Given the description of an element on the screen output the (x, y) to click on. 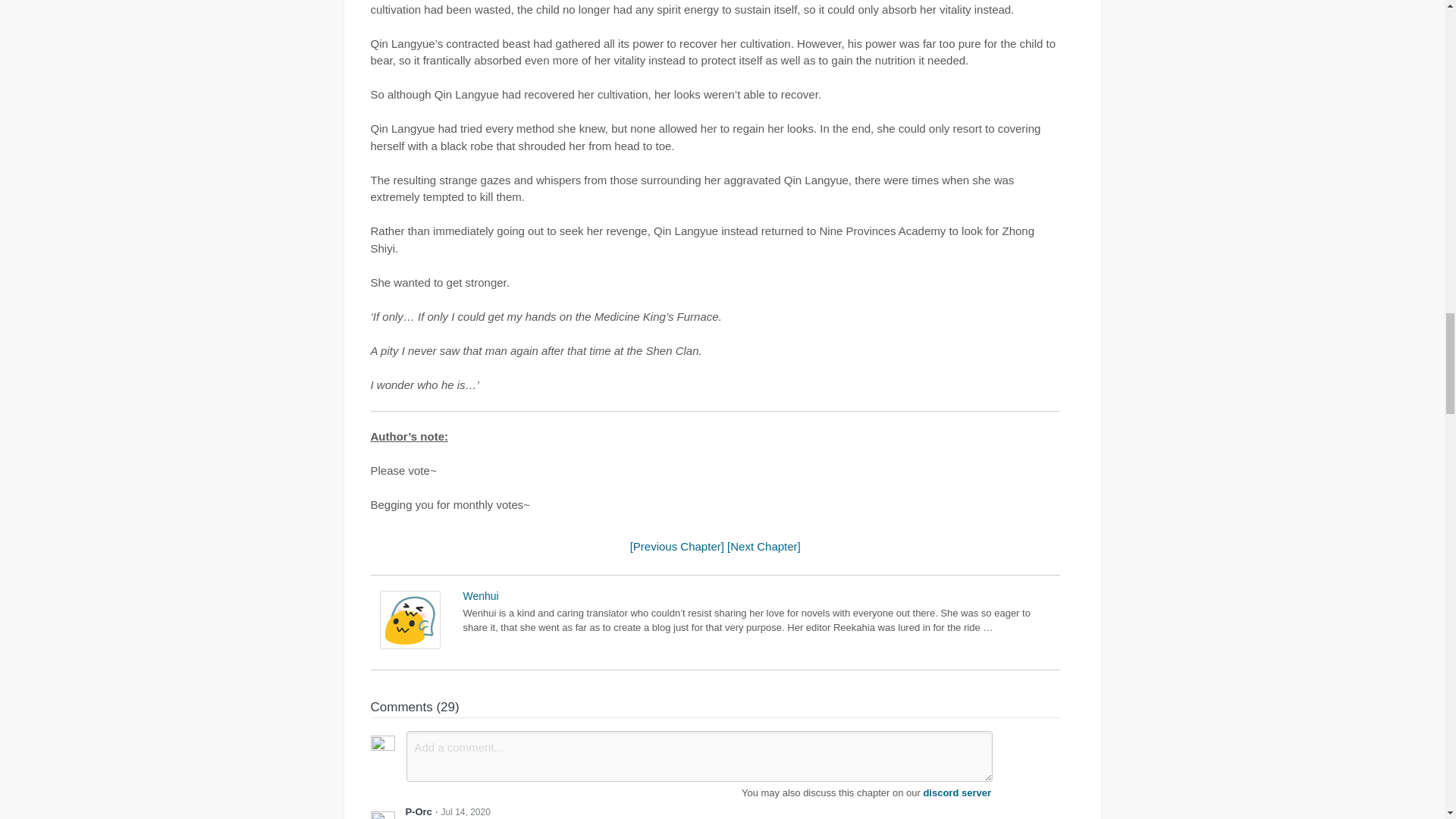
Wenhui (408, 644)
